Given the description of an element on the screen output the (x, y) to click on. 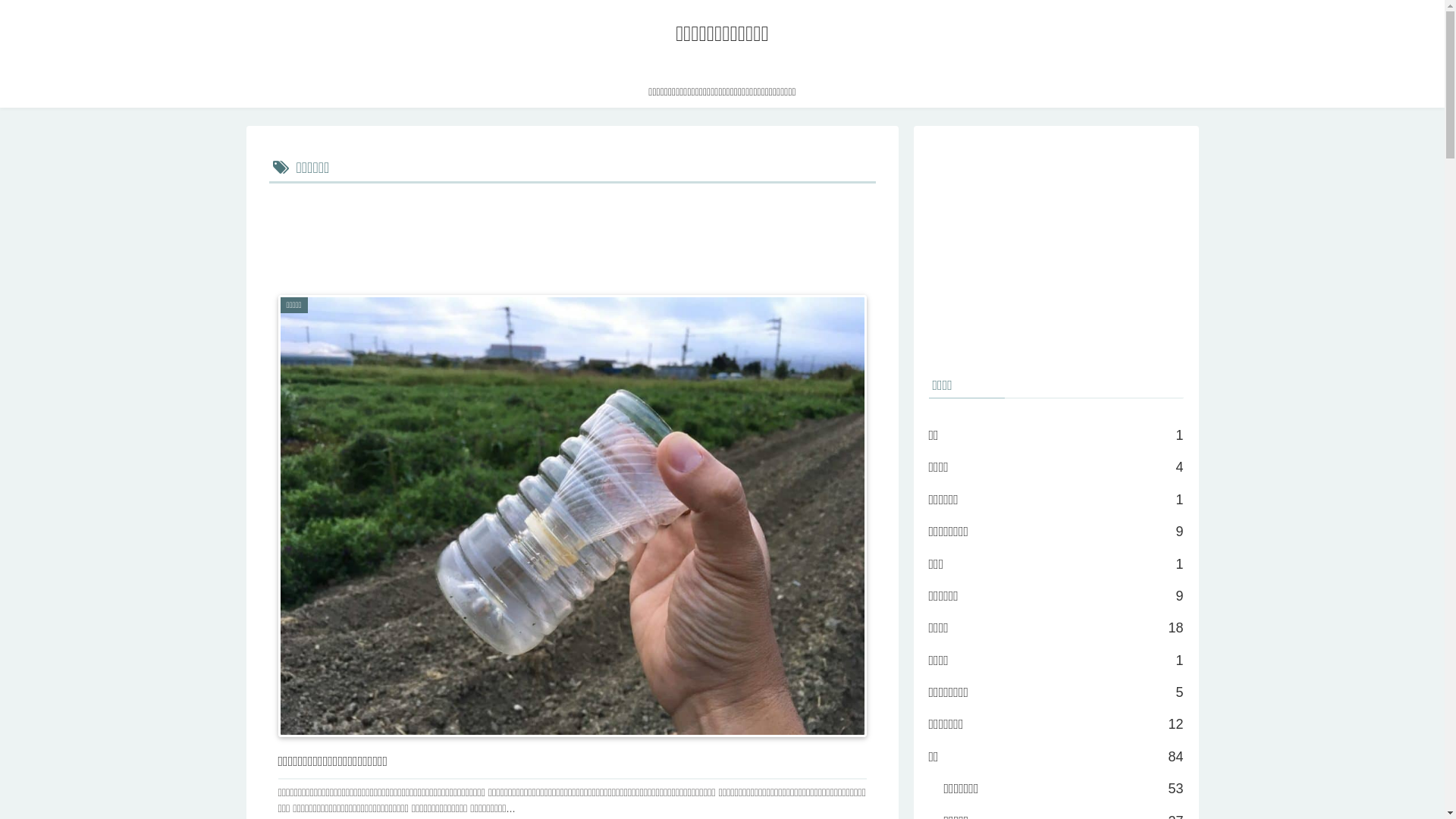
Advertisement Element type: hover (1055, 247)
Advertisement Element type: hover (571, 229)
